Given the description of an element on the screen output the (x, y) to click on. 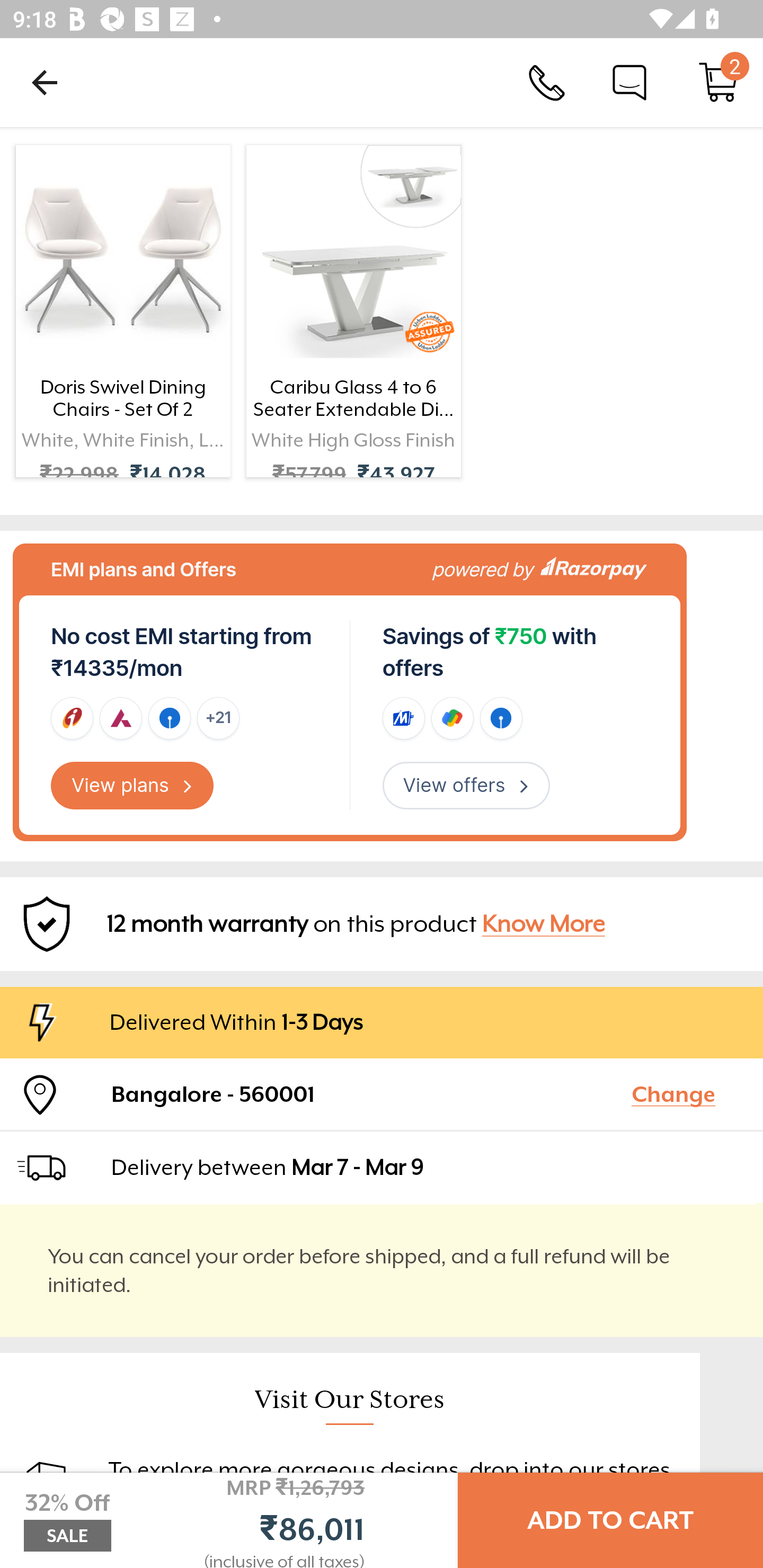
Navigate up (44, 82)
Call Us (546, 81)
Chat (629, 81)
Cart (718, 81)
View plans (132, 785)
View offers (465, 785)
12 month warranty on this product Know More (381, 923)
 Bangalore - 560001 Change (381, 1094)
Delivery between Mar 7 - Mar 9 (428, 1167)
ADD TO CART (610, 1520)
See all 6 stores in Bangalore (262, 1520)
